Given the description of an element on the screen output the (x, y) to click on. 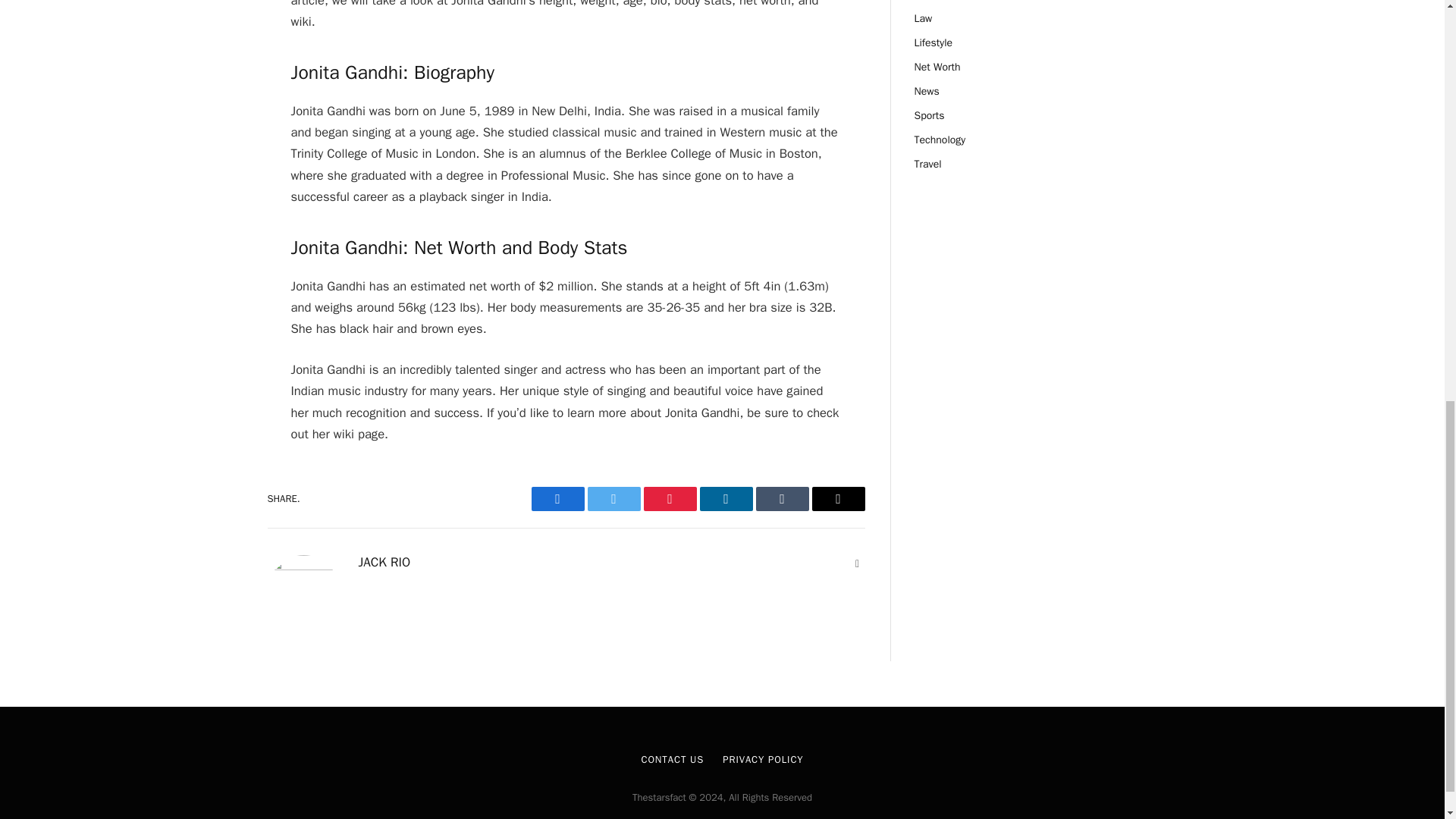
LinkedIn (725, 498)
Pinterest (669, 498)
Twitter (613, 498)
Facebook (557, 498)
